Given the description of an element on the screen output the (x, y) to click on. 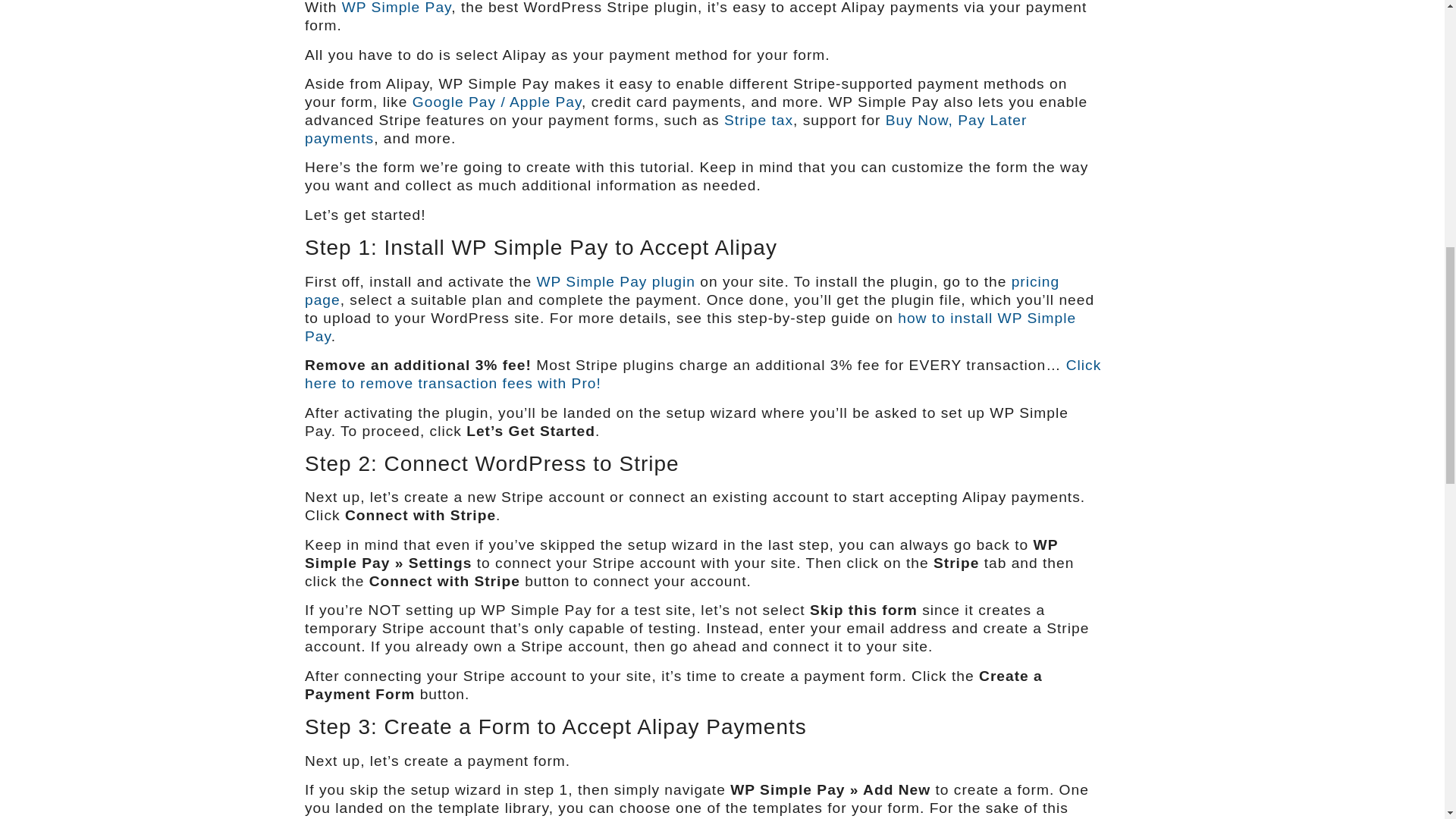
Buy Now, Pay Later payments (665, 129)
Pricing (681, 290)
WP Simple Pay plugin (614, 281)
Pricing (702, 374)
WP Simple Pay (396, 7)
Pricing (614, 281)
Click here to remove transaction fees with Pro! (702, 374)
pricing page (681, 290)
how to install WP Simple Pay (689, 326)
Pricing (396, 7)
Stripe tax (758, 119)
